Given the description of an element on the screen output the (x, y) to click on. 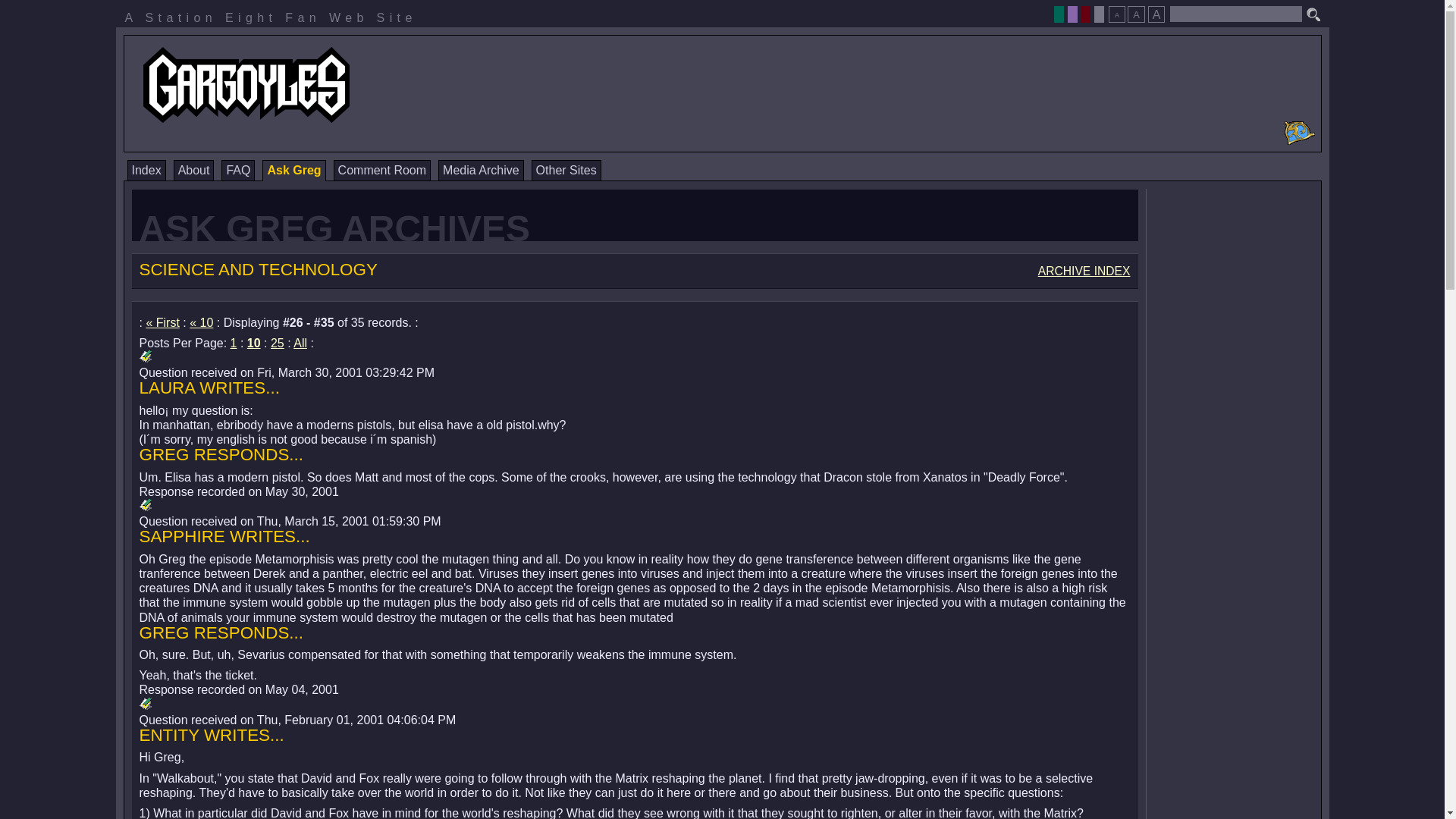
1 (233, 342)
Select the font size the best suits your needs. (1135, 9)
Small Font Size (1116, 13)
Broadway (1059, 13)
Comment Room (381, 169)
A (1156, 13)
FAQ (237, 169)
Brooklyn (1085, 13)
Other Sites (566, 169)
25 (276, 342)
Ask Greg (293, 169)
About (193, 169)
A (1116, 13)
